Given the description of an element on the screen output the (x, y) to click on. 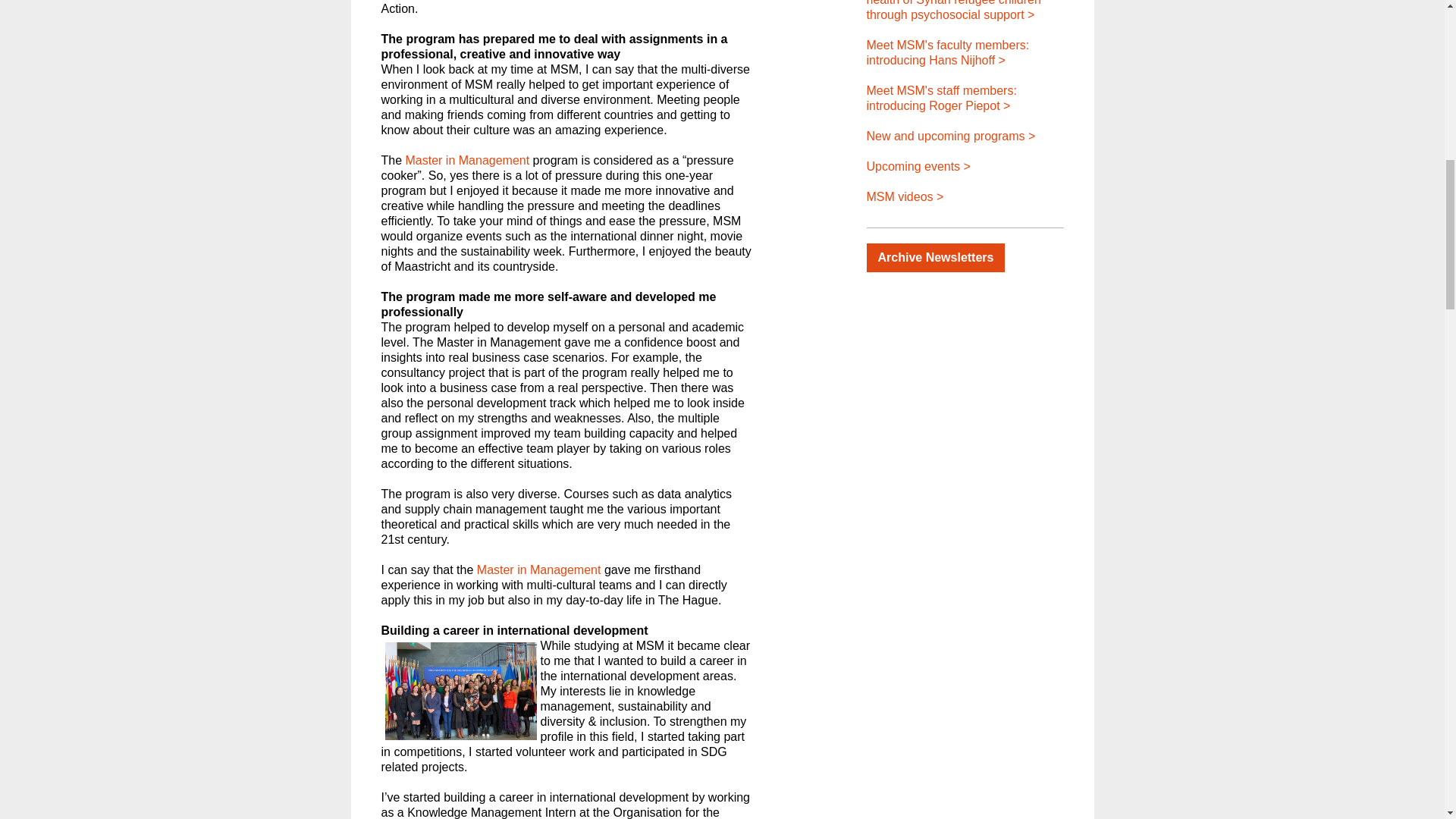
Meet MSM's staff members: introducing Roger Piepot (941, 98)
Upcoming events (917, 165)
Master in Management  (469, 160)
MSM videos (904, 196)
Archive Newsletters (935, 257)
New and upcoming programs (950, 135)
Master in Management (539, 569)
Meet MSM's faculty members: introducing Hans Nijhoff (947, 52)
